Given the description of an element on the screen output the (x, y) to click on. 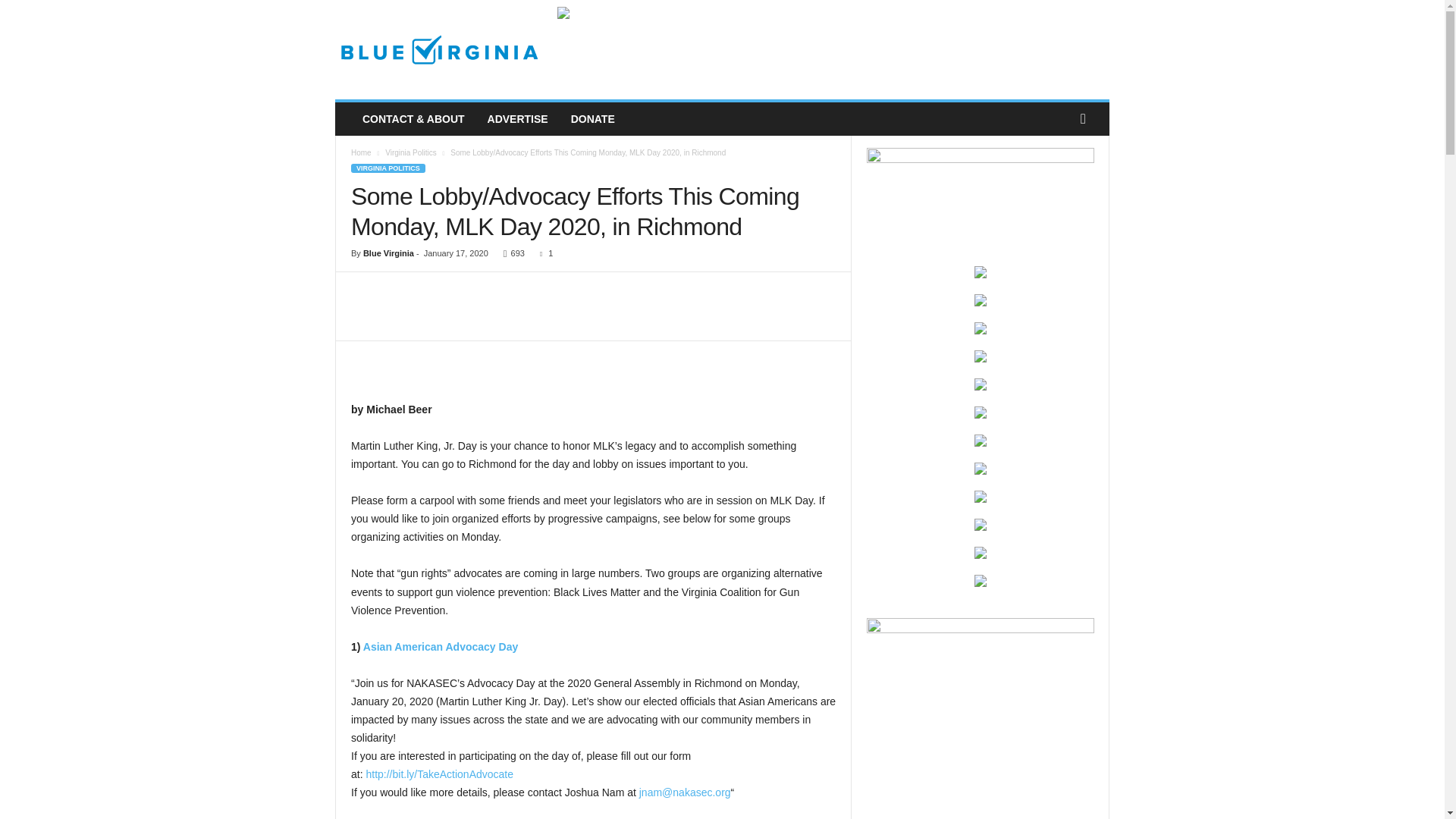
DONATE (592, 118)
Home (360, 152)
Asian American Advocacy Day (440, 646)
View all posts in Virginia Politics (410, 152)
This external link will open in a new window (684, 792)
Blue Virginia (437, 49)
1 (543, 252)
This external link will open in a new window (440, 646)
Virginia Politics (410, 152)
ADVERTISE (517, 118)
